Given the description of an element on the screen output the (x, y) to click on. 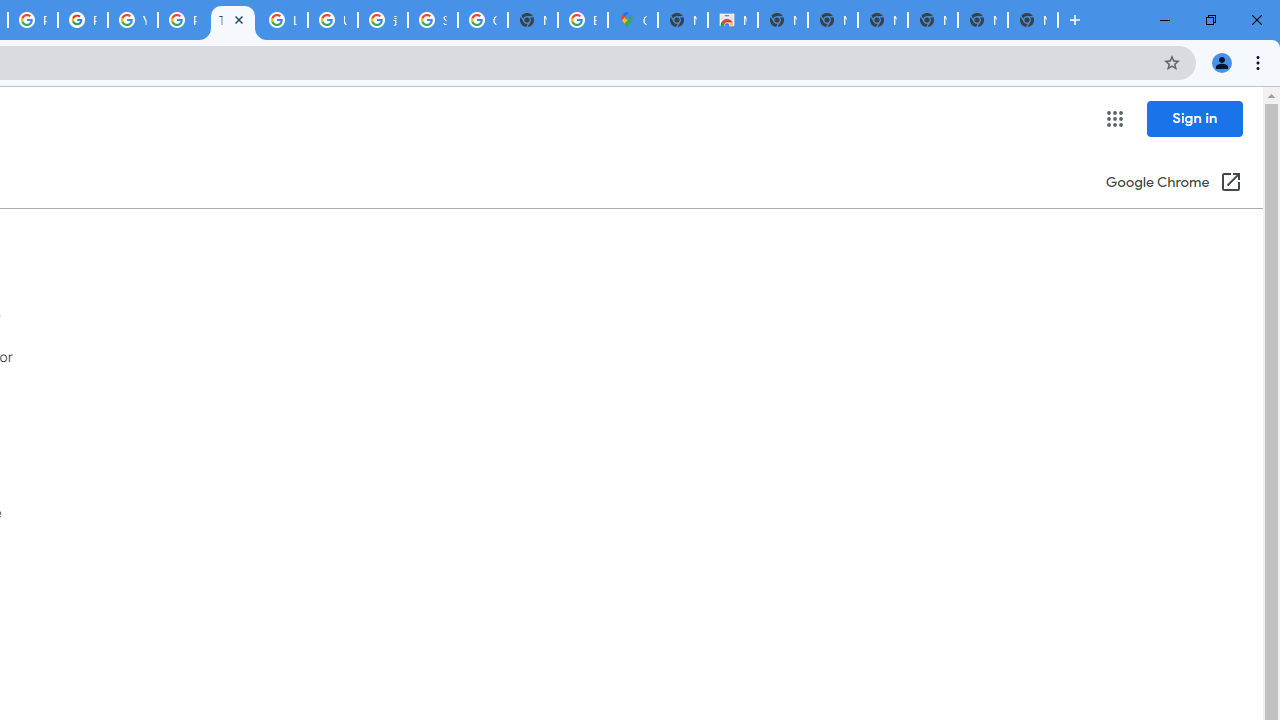
YouTube (132, 20)
Tips & tricks for Chrome - Google Chrome Help (232, 20)
